Given the description of an element on the screen output the (x, y) to click on. 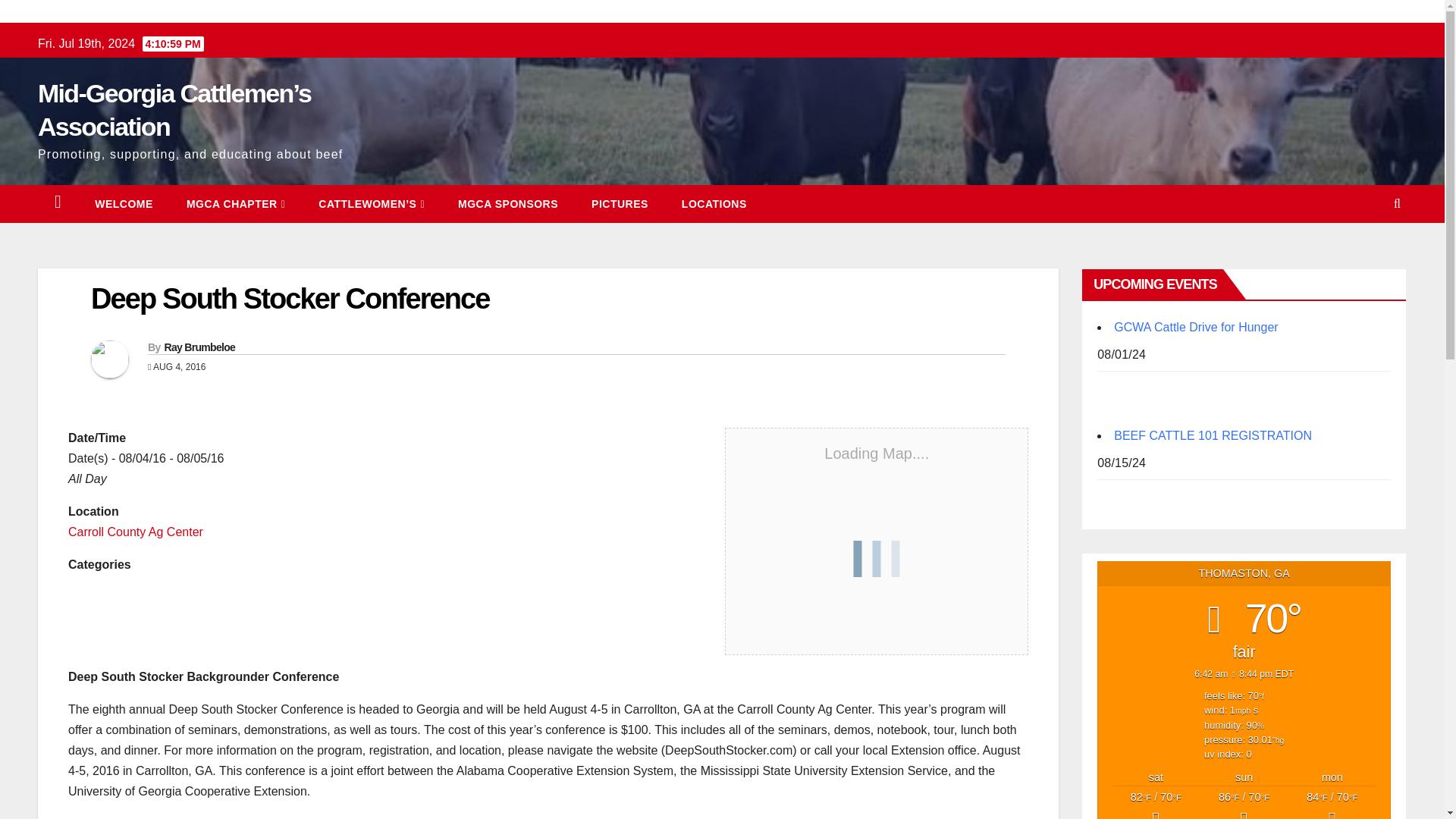
Permalink to: Deep South Stocker Conference (289, 298)
WELCOME (124, 203)
MGCA CHAPTER (235, 203)
Thunderstorms (1243, 804)
